Given the description of an element on the screen output the (x, y) to click on. 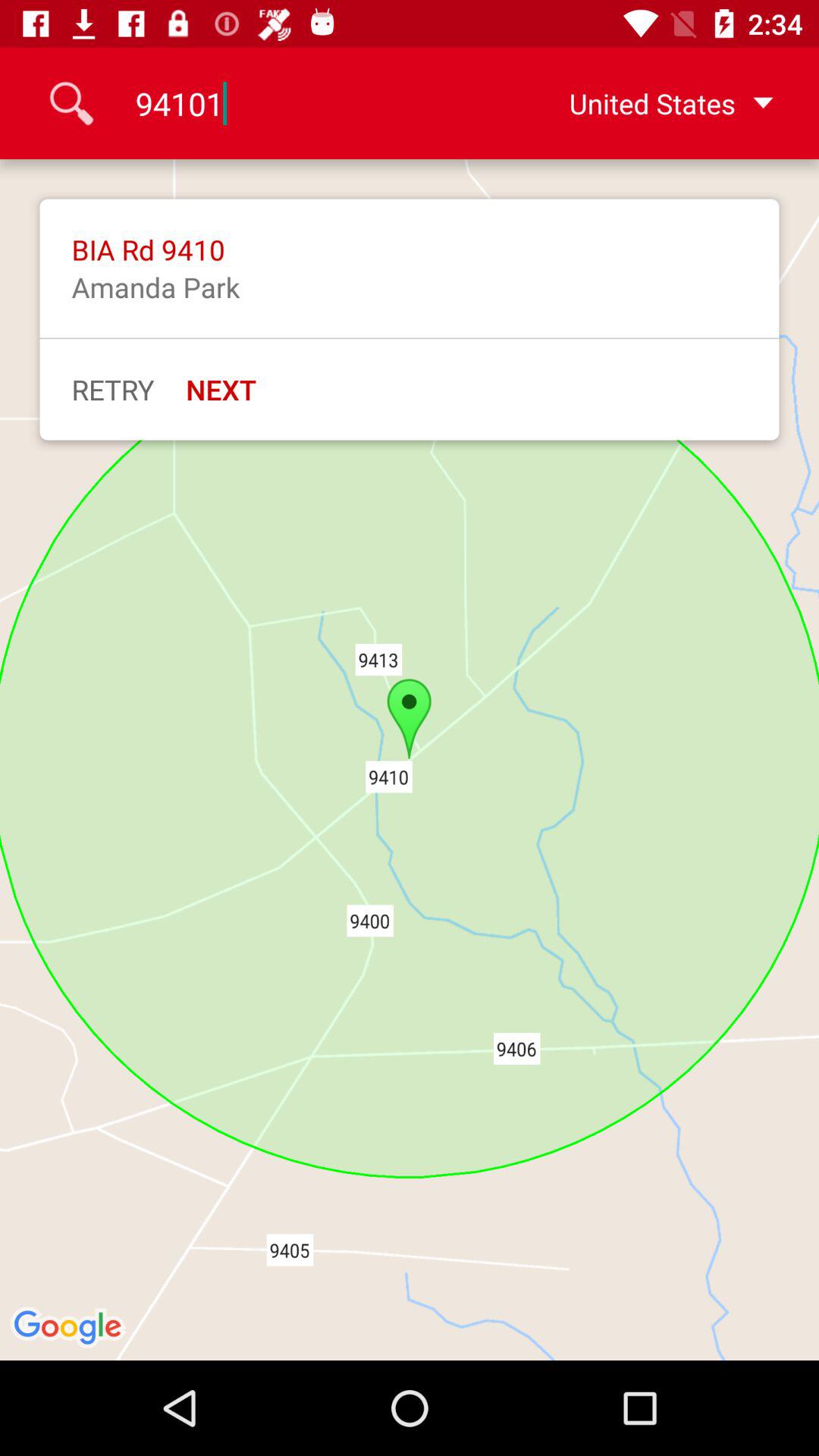
click the 94101 (309, 103)
